Given the description of an element on the screen output the (x, y) to click on. 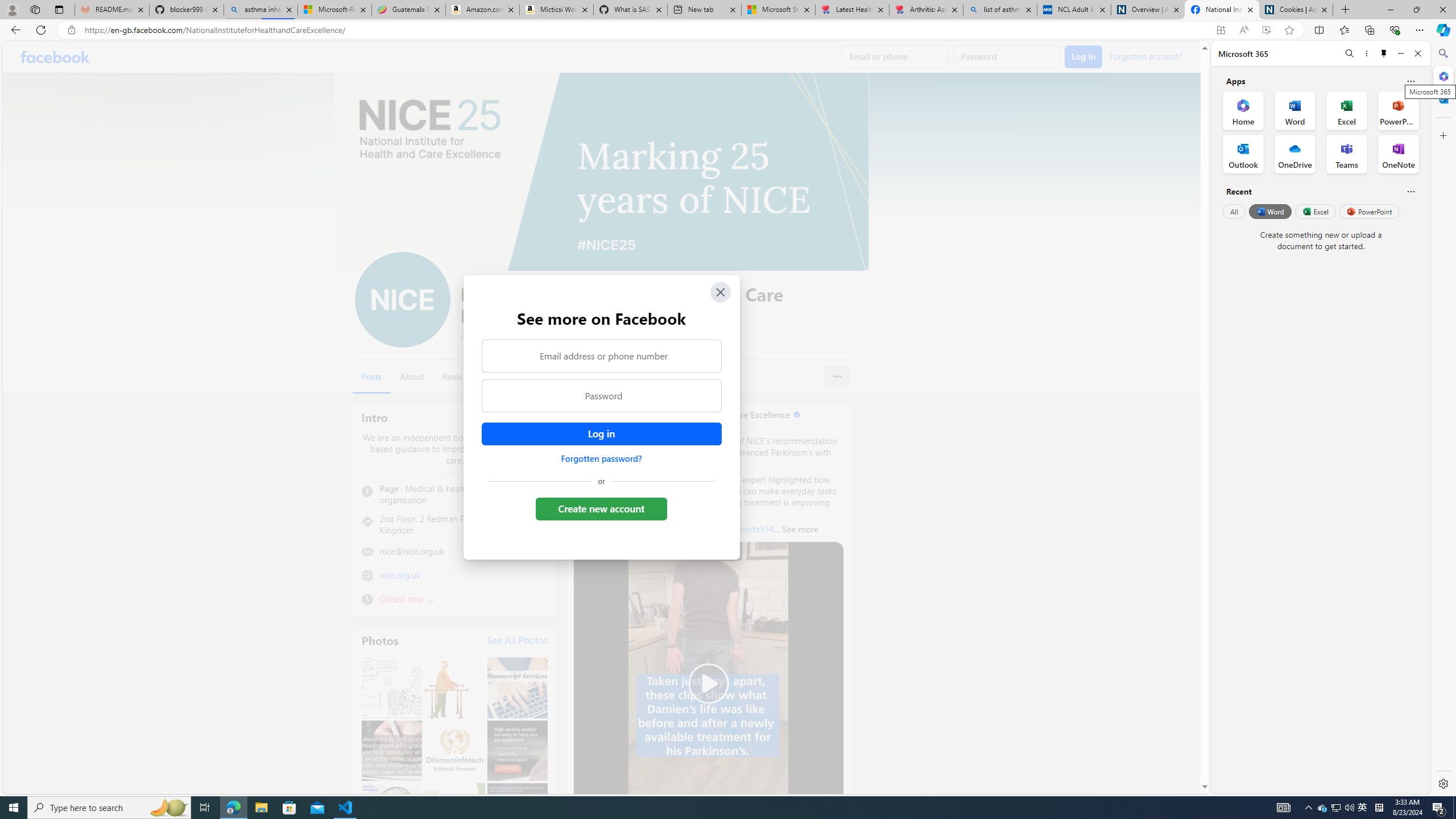
Enhance video (1266, 29)
Excel (1315, 210)
Is this helpful? (1410, 191)
